Given the description of an element on the screen output the (x, y) to click on. 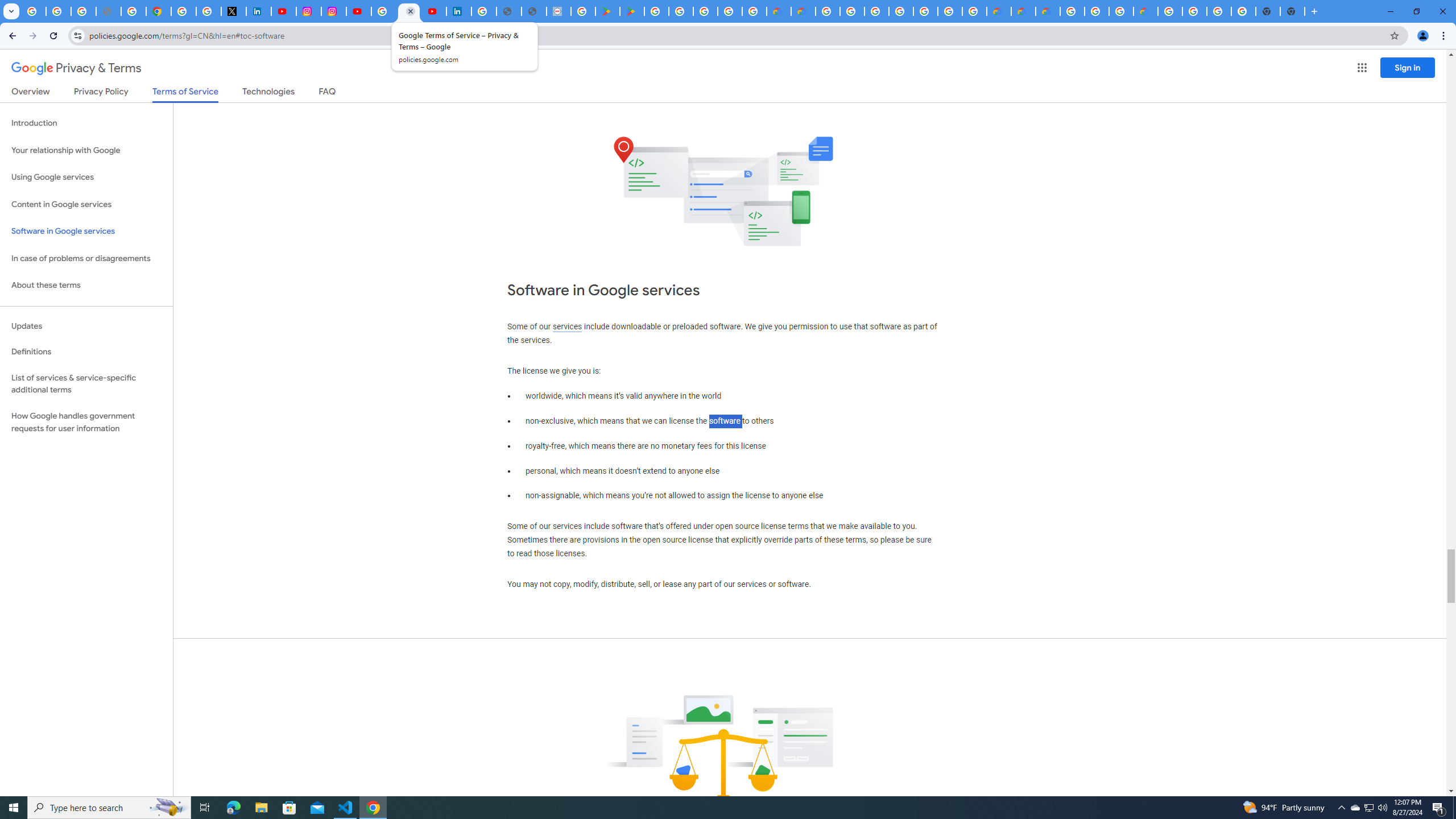
Your relationship with Google (86, 150)
List of services & service-specific additional terms (86, 383)
About these terms (86, 284)
Google Cloud Platform (949, 11)
Google Cloud Platform (827, 11)
Customer Care | Google Cloud (998, 11)
Browse Chrome as a guest - Computer - Google Chrome Help (1120, 11)
Definitions (86, 352)
Google Workspace - Specific Terms (753, 11)
